Given the description of an element on the screen output the (x, y) to click on. 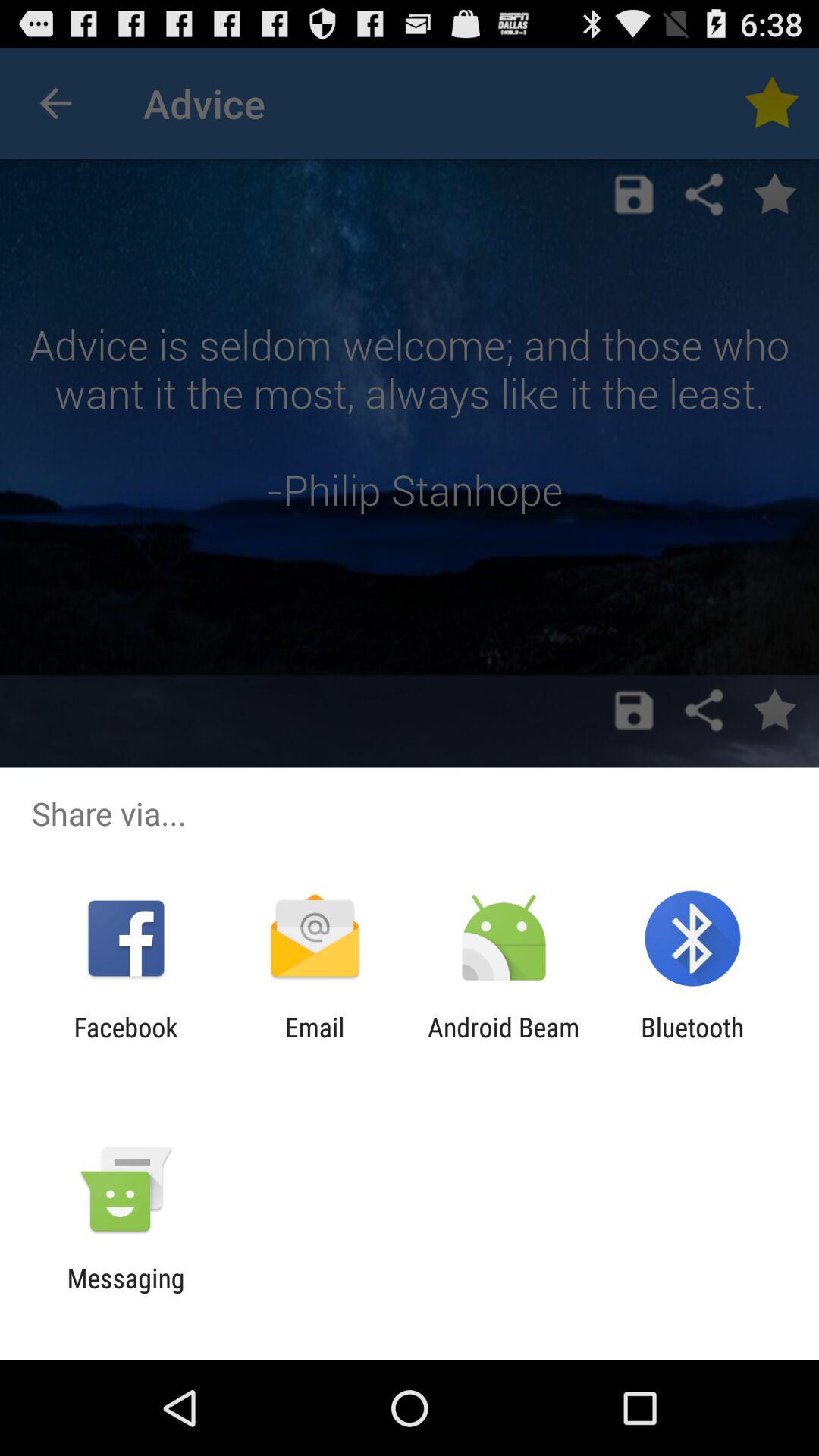
tap app next to facebook item (314, 1042)
